Given the description of an element on the screen output the (x, y) to click on. 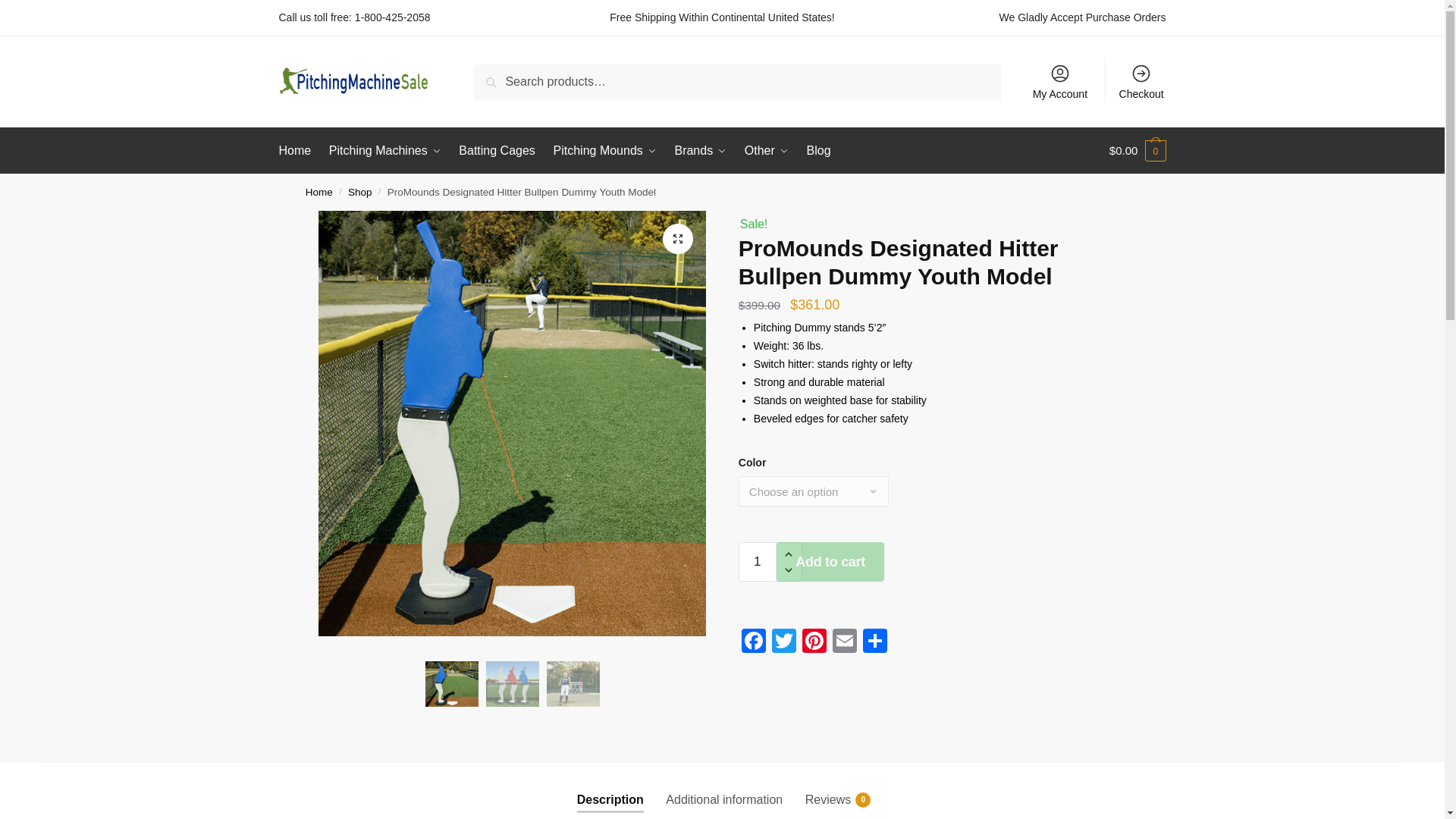
Pitching Mounds (605, 150)
My Account (1059, 80)
Other (766, 150)
Facebook (753, 642)
Pitching Machines (383, 150)
Search (497, 76)
Twitter (783, 642)
Brands (700, 150)
View your shopping cart (1137, 150)
Email (844, 642)
1 (757, 561)
Batting Cages (496, 150)
Checkout (1141, 80)
Pinterest (814, 642)
